Given the description of an element on the screen output the (x, y) to click on. 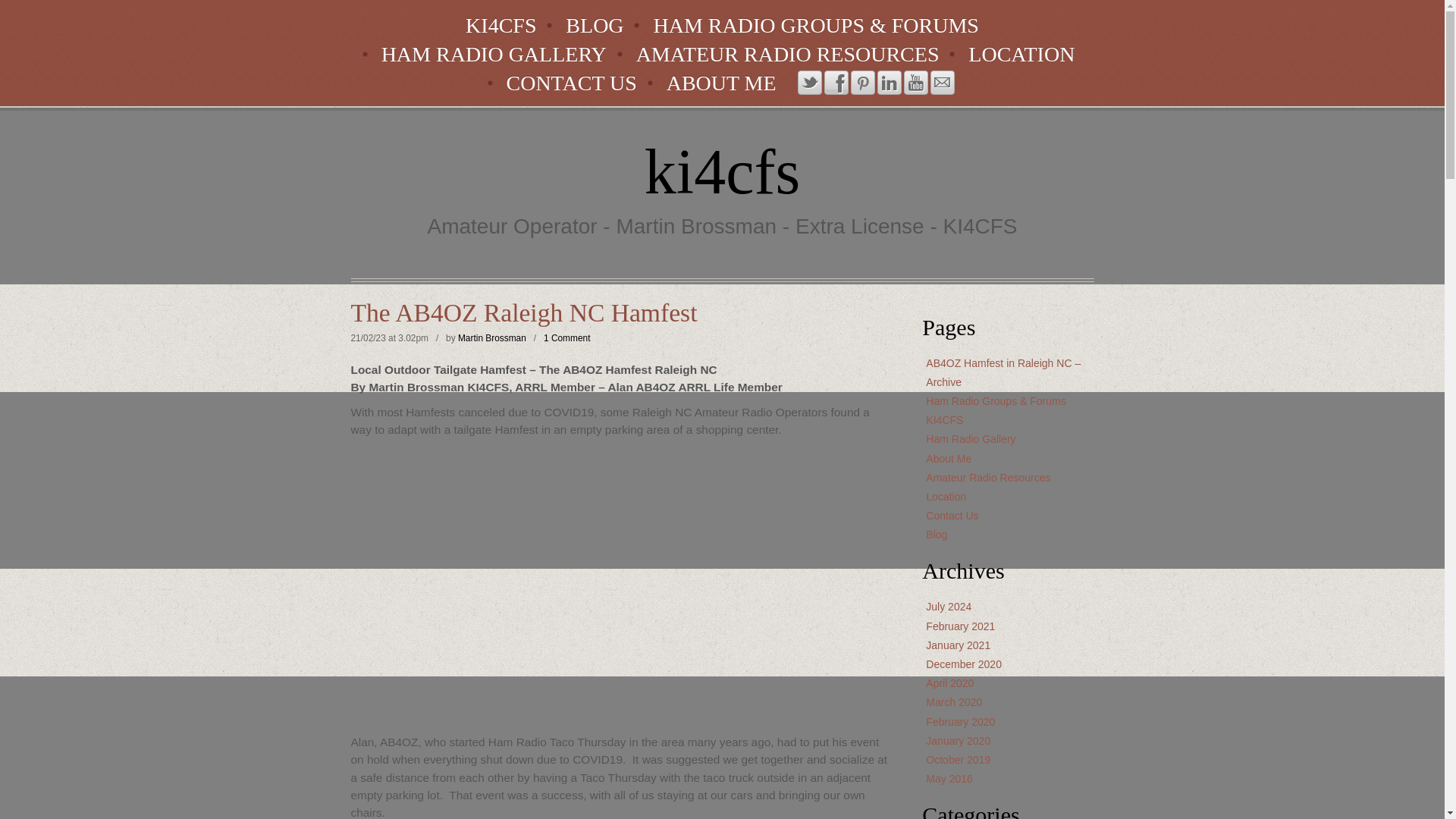
1 Comment (566, 337)
ki4cfs (722, 171)
ABOUT ME (721, 83)
Permalink to The AB4OZ Raleigh NC Hamfest (620, 312)
HAM RADIO GALLERY (494, 54)
BLOG (593, 25)
Martin Brossman (491, 337)
KI4CFS (500, 25)
Blog (936, 534)
Ham Radio Gallery (970, 439)
